Given the description of an element on the screen output the (x, y) to click on. 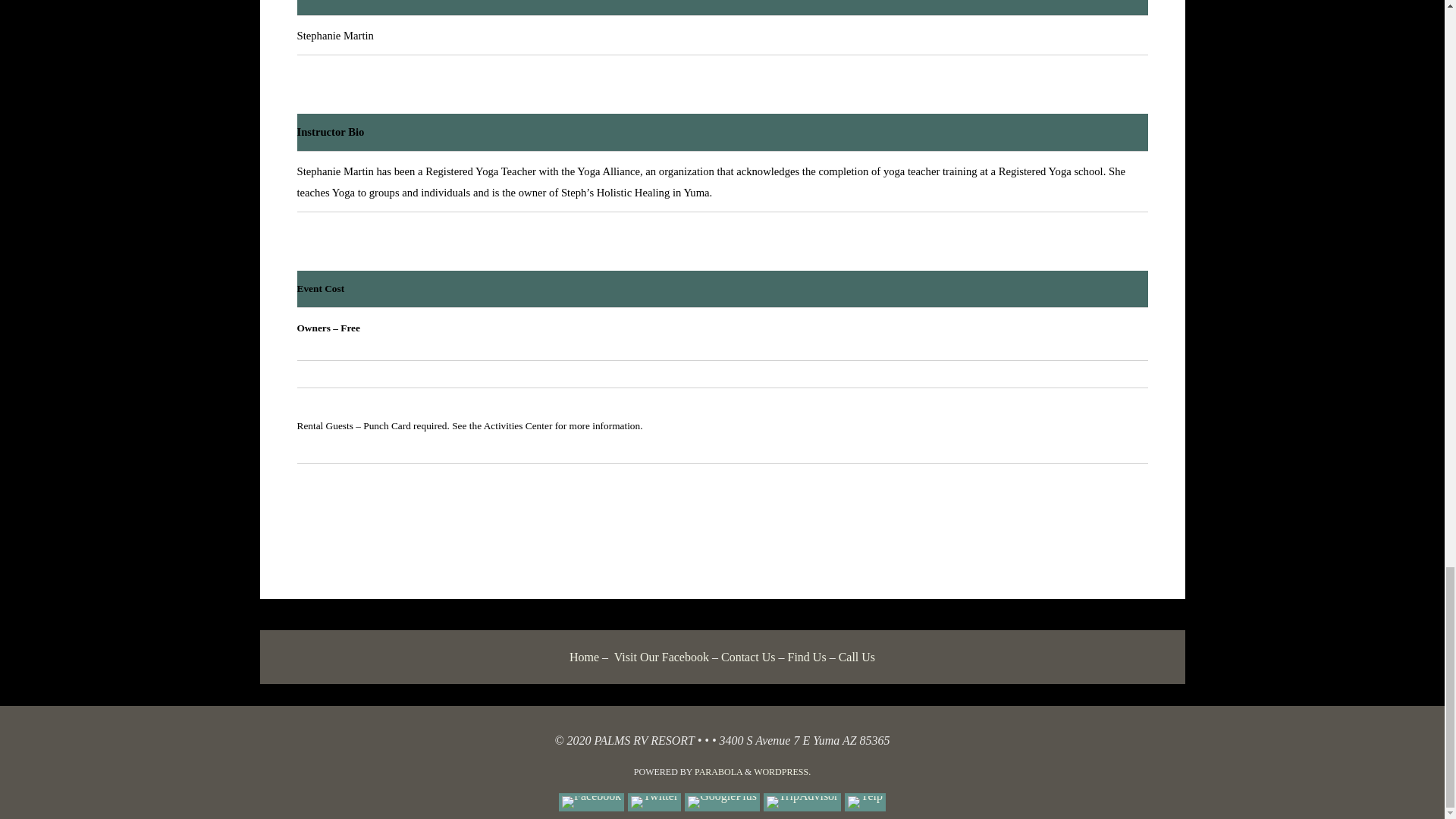
GooglePlus (722, 802)
Facebook (591, 802)
Parabola Theme by Cryout Creations (718, 771)
TripAdvisor (801, 802)
Semantic Personal Publishing Platform (782, 771)
Twitter (654, 802)
Yelp (864, 802)
